Given the description of an element on the screen output the (x, y) to click on. 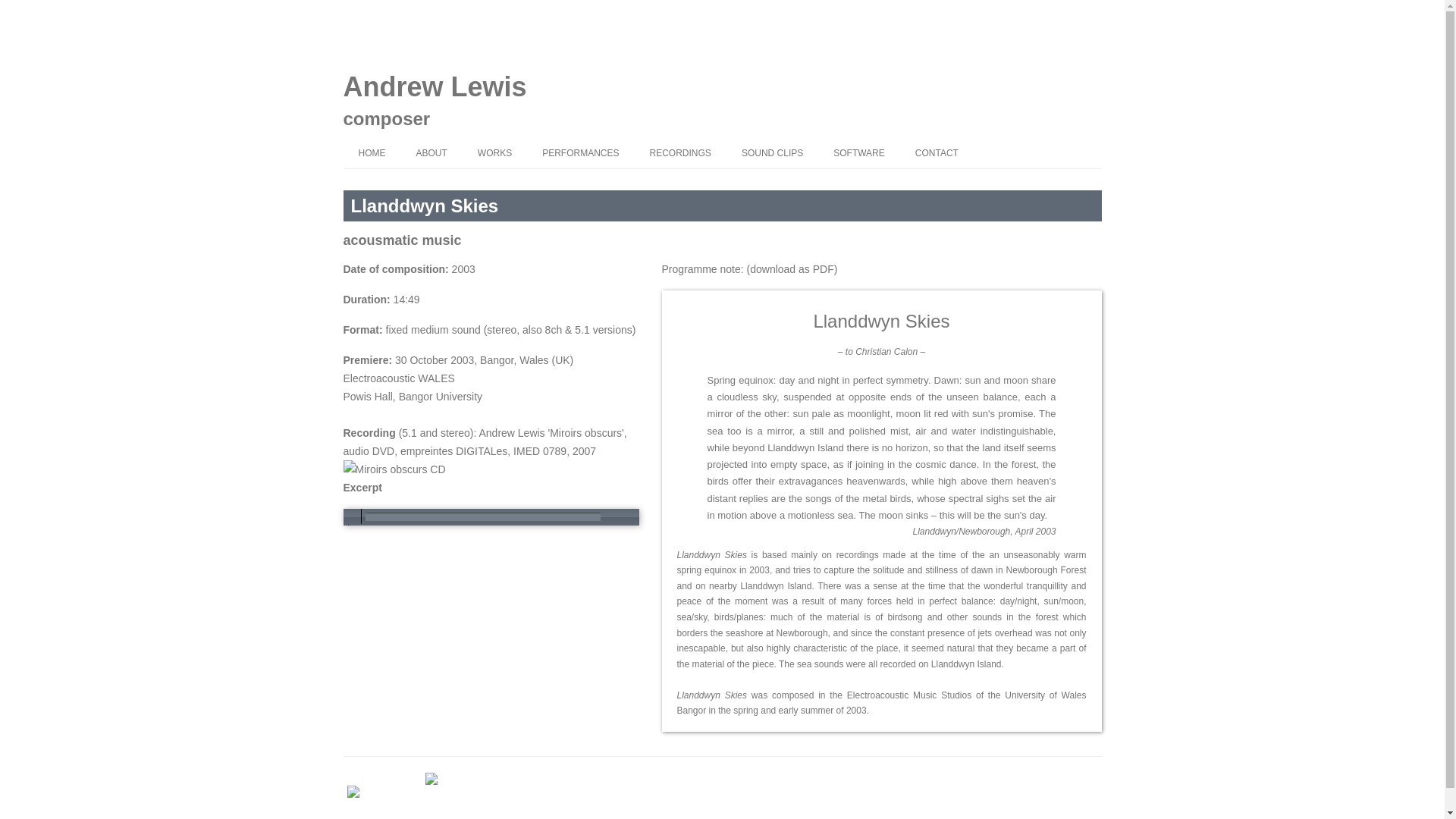
HOME (371, 153)
RECORDINGS (680, 153)
SOUND CLIPS (772, 153)
CONTACT (936, 153)
PERFORMANCES (580, 153)
download as PDF (791, 268)
Andrew Lewis (433, 86)
WORKS (495, 153)
ABOUT (430, 153)
